Given the description of an element on the screen output the (x, y) to click on. 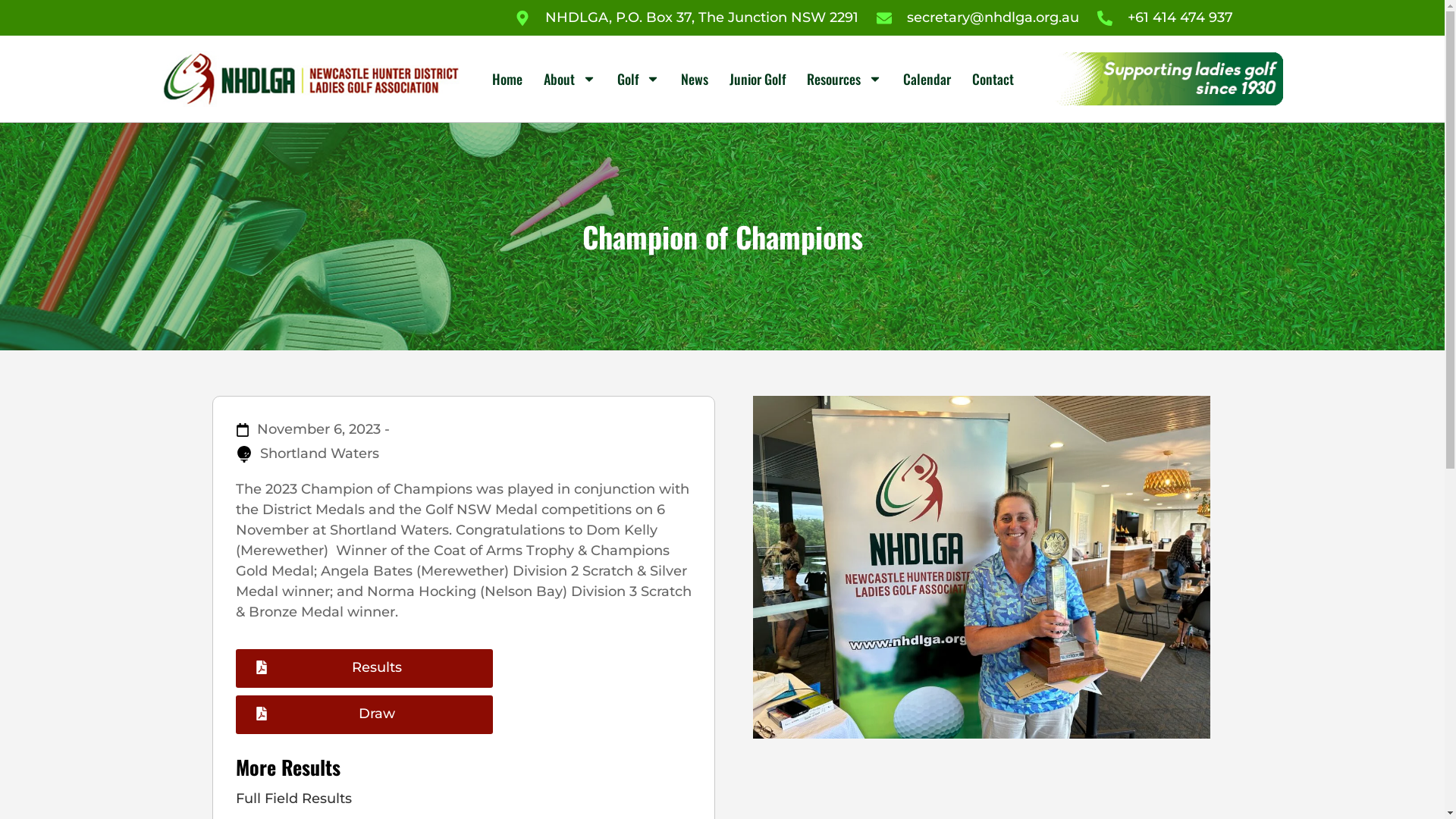
About Element type: text (569, 78)
Draw Element type: text (363, 714)
secretary@nhdlga.org.au Element type: text (977, 17)
Calendar Element type: text (926, 78)
Results Element type: text (363, 668)
Junior Golf Element type: text (757, 78)
News Element type: text (694, 78)
Full Field Results Element type: text (462, 798)
Golf Element type: text (638, 78)
Home Element type: text (507, 78)
Resources Element type: text (844, 78)
+61 414 474 937 Element type: text (1164, 17)
Contact Element type: text (992, 78)
